Given the description of an element on the screen output the (x, y) to click on. 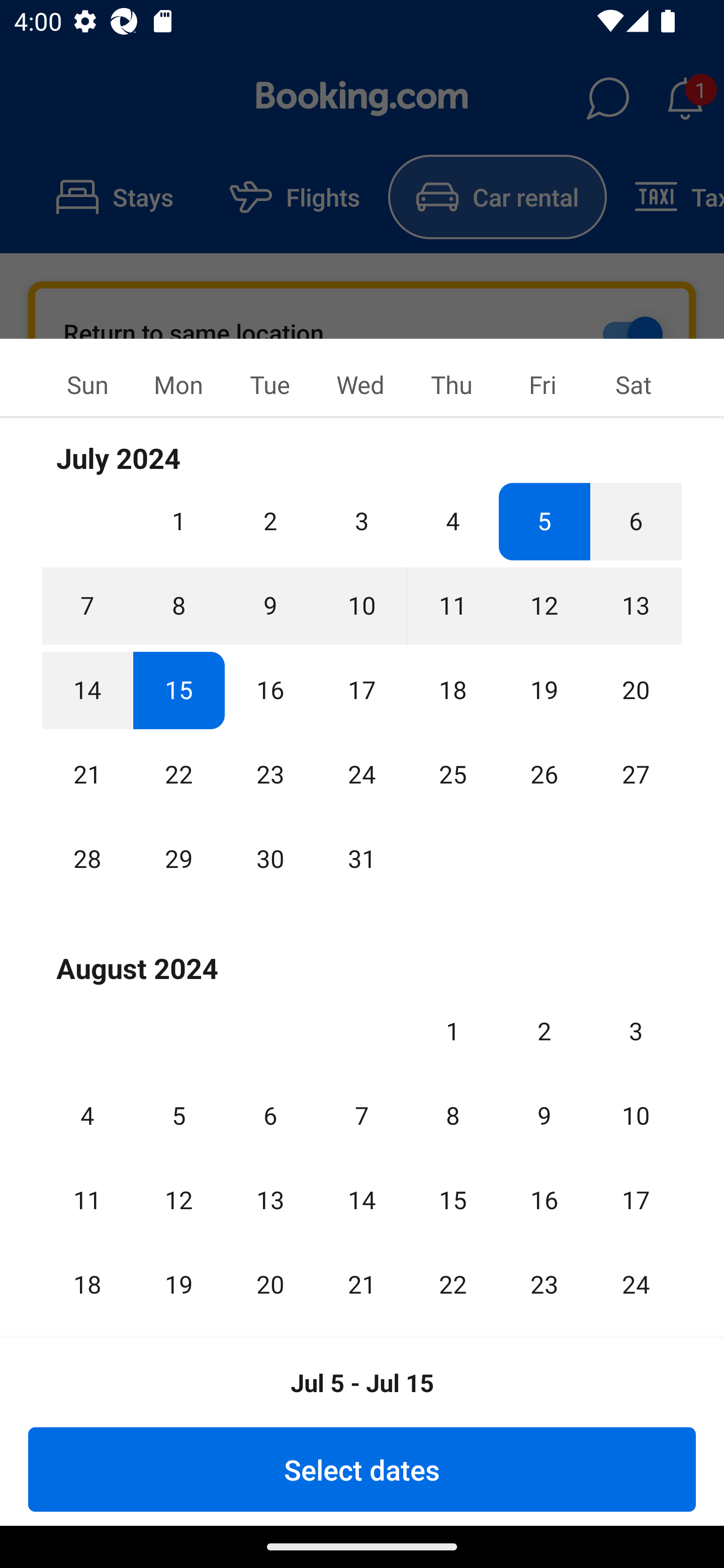
Select dates (361, 1468)
